Given the description of an element on the screen output the (x, y) to click on. 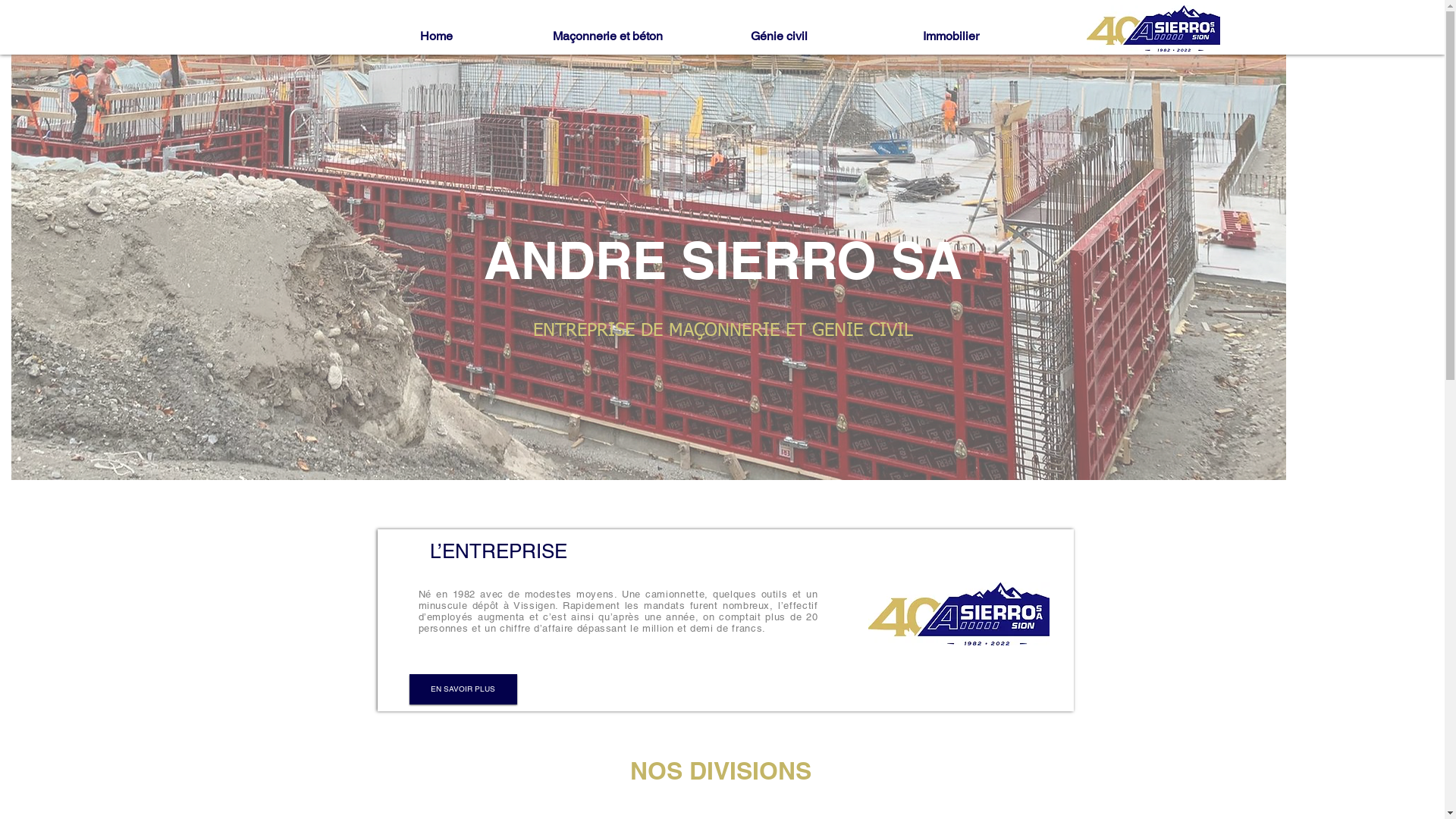
Immobilier Element type: text (949, 35)
SIERRO_40TH.jpg Element type: hover (1152, 28)
EN SAVOIR PLUS Element type: text (463, 689)
Home Element type: text (435, 35)
